Given the description of an element on the screen output the (x, y) to click on. 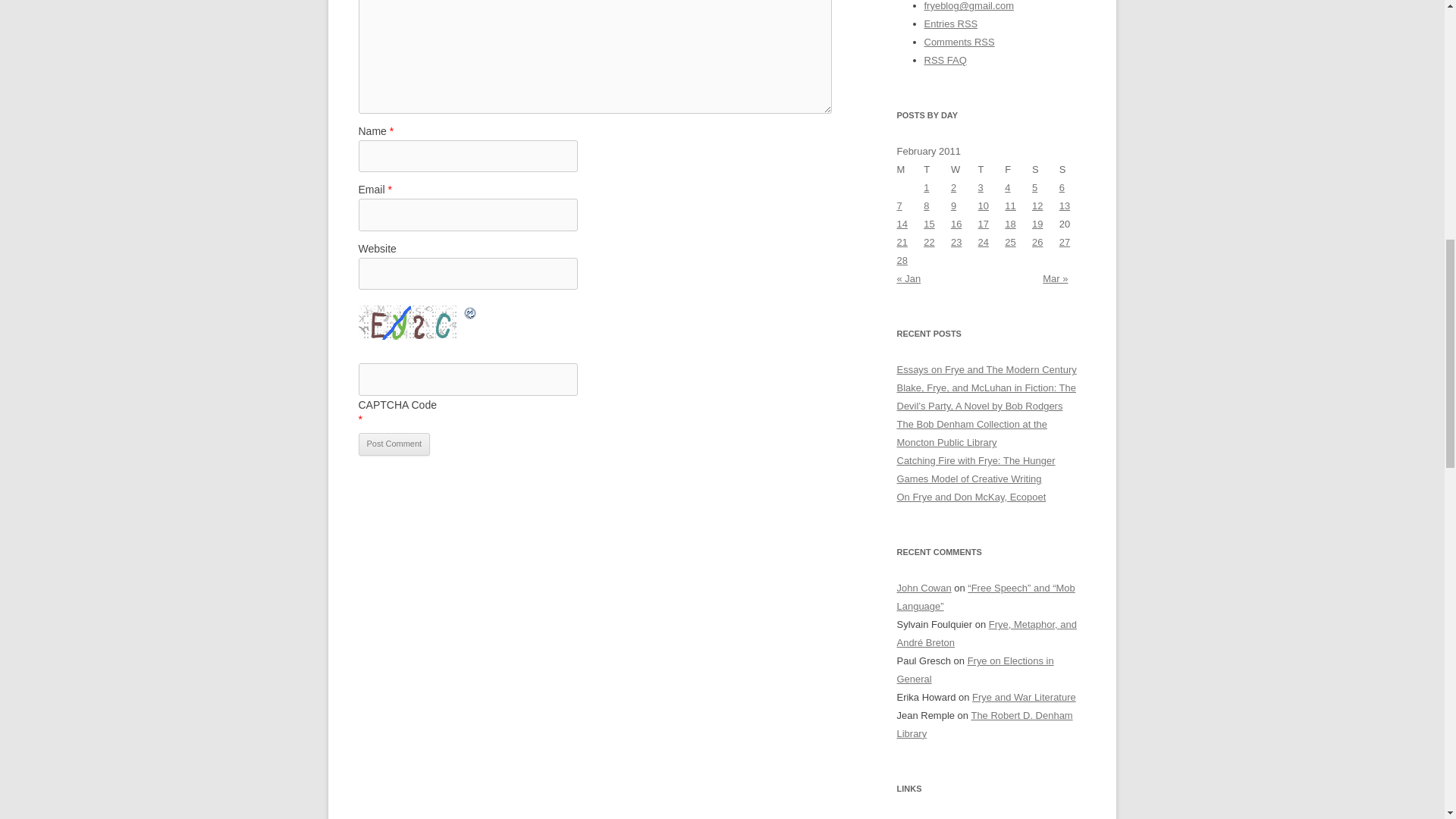
Thursday (992, 169)
Monday (909, 169)
Saturday (1045, 169)
Post Comment (393, 444)
Sunday (1072, 169)
12 (1037, 205)
RSS FAQ (944, 60)
Post Comment (393, 444)
15 (928, 224)
13 (1064, 205)
CAPTCHA (409, 322)
14 (901, 224)
11 (1009, 205)
Friday (1018, 169)
Entries RSS (949, 23)
